Given the description of an element on the screen output the (x, y) to click on. 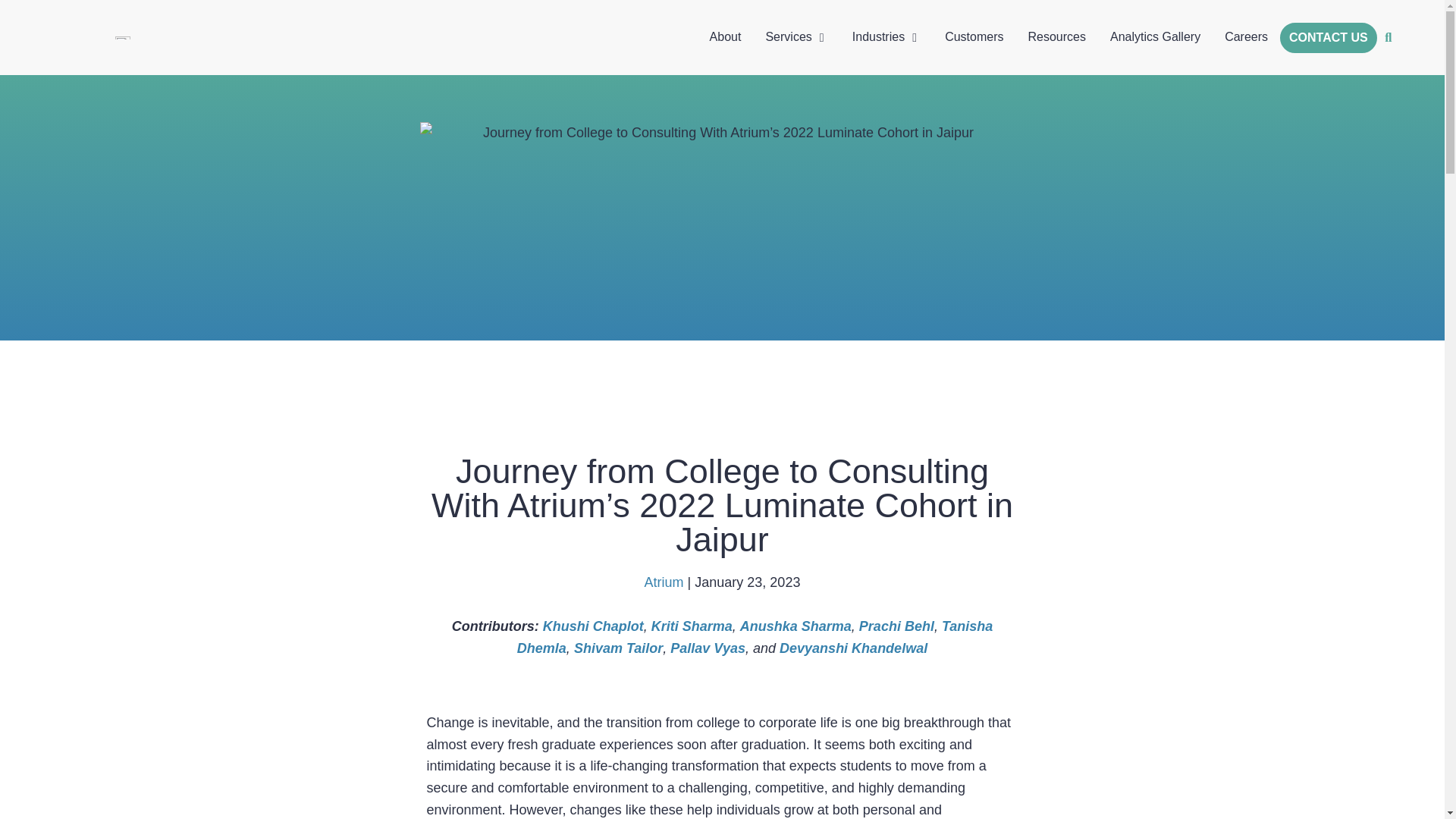
About (725, 37)
Services (787, 37)
Atrium (664, 581)
